Given the description of an element on the screen output the (x, y) to click on. 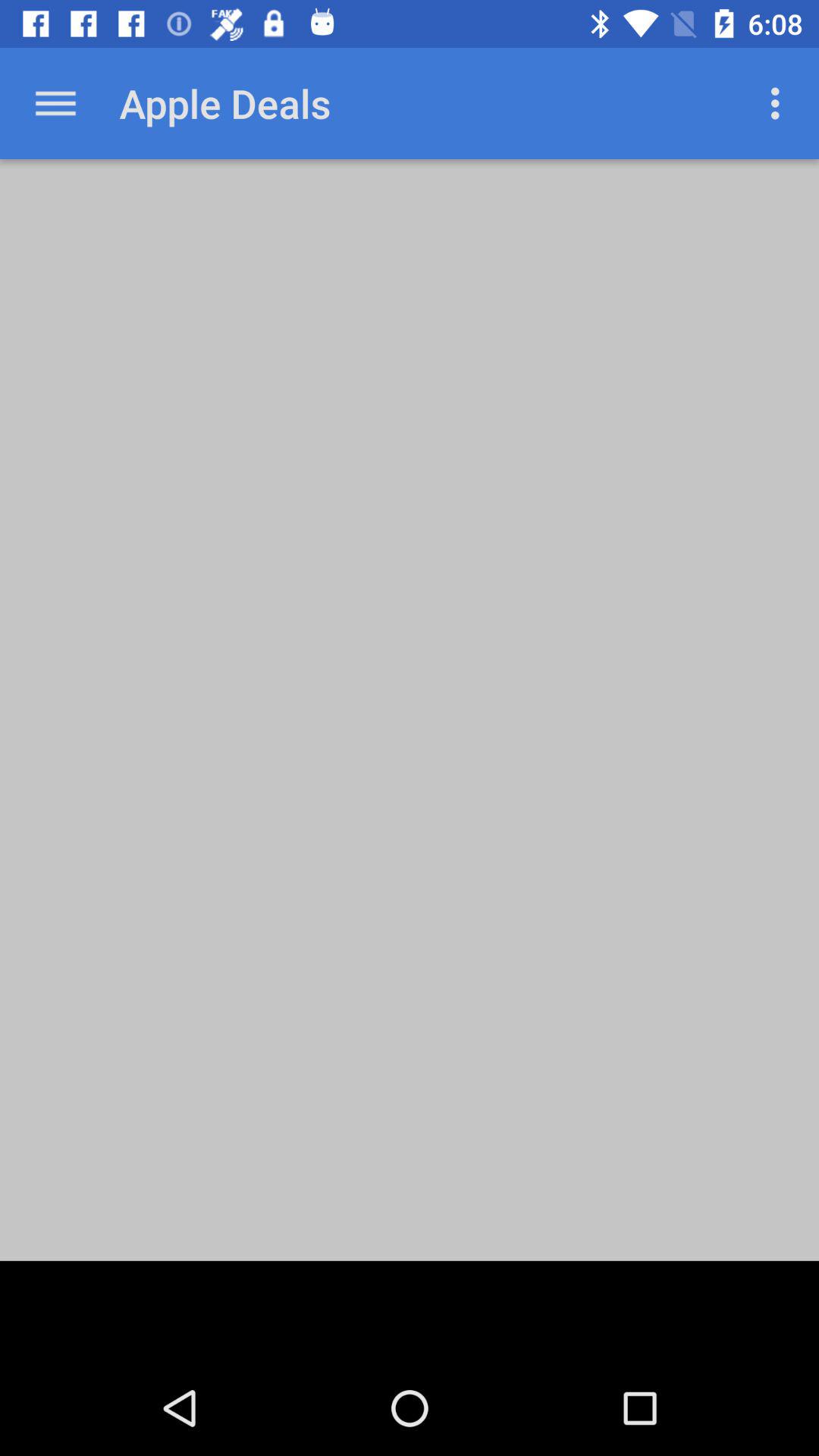
turn off icon next to apple deals item (55, 103)
